Given the description of an element on the screen output the (x, y) to click on. 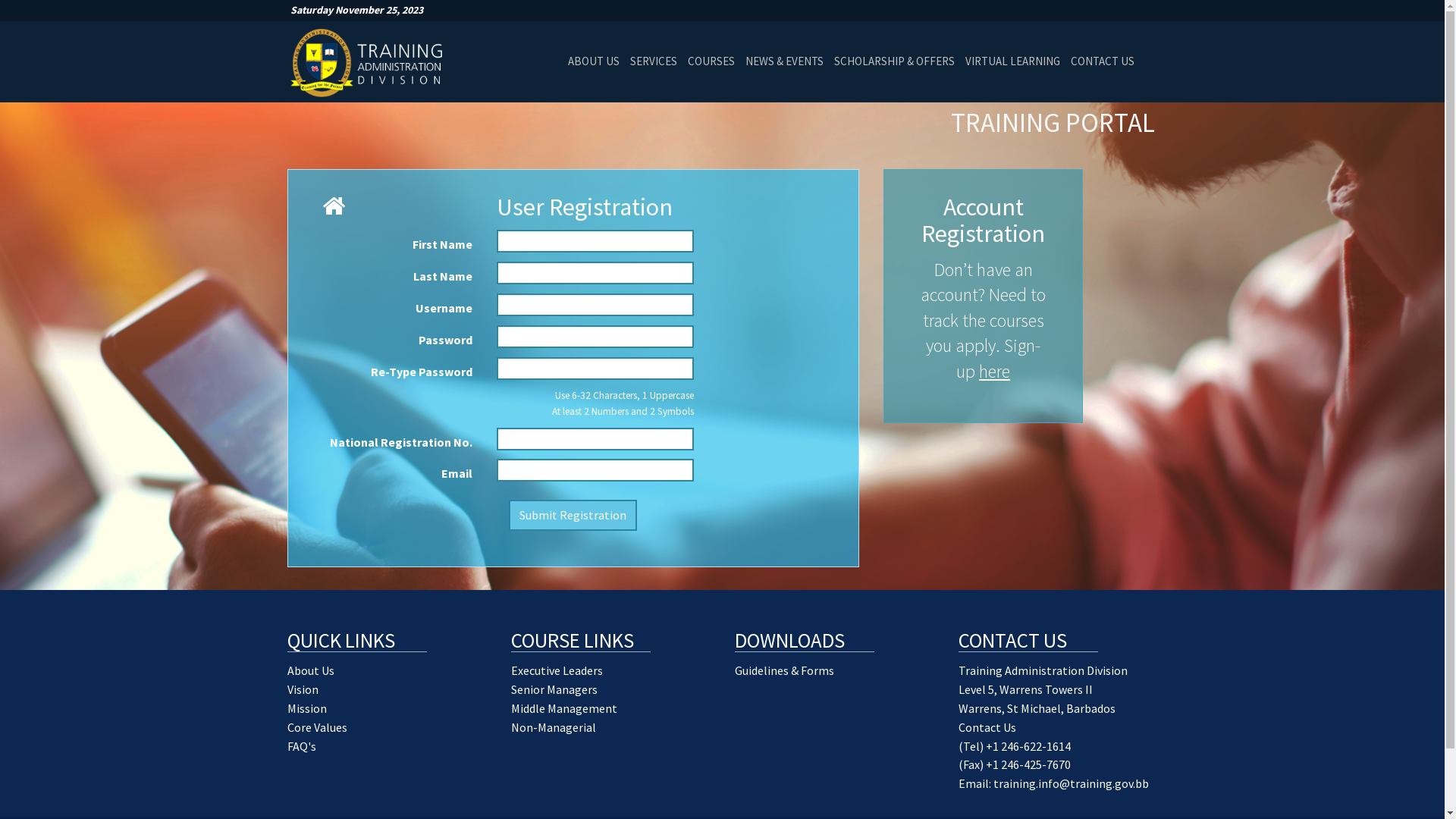
VIRTUAL LEARNING Element type: text (1012, 61)
Executive Leaders Element type: text (556, 669)
NEWS & EVENTS Element type: text (784, 61)
ABOUT US Element type: text (593, 61)
CONTACT US Element type: text (1101, 61)
About Us Element type: text (309, 669)
Vision Element type: text (301, 688)
COURSES Element type: text (711, 61)
FAQ's Element type: text (300, 745)
Middle Management Element type: text (564, 707)
Guidelines & Forms Element type: text (783, 669)
Senior Managers Element type: text (554, 688)
Non-Managerial Element type: text (553, 726)
Core Values Element type: text (316, 726)
SERVICES Element type: text (653, 61)
SCHOLARSHIP & OFFERS Element type: text (893, 61)
Mission Element type: text (306, 707)
here Element type: text (994, 370)
Contact Us Element type: text (987, 726)
